Given the description of an element on the screen output the (x, y) to click on. 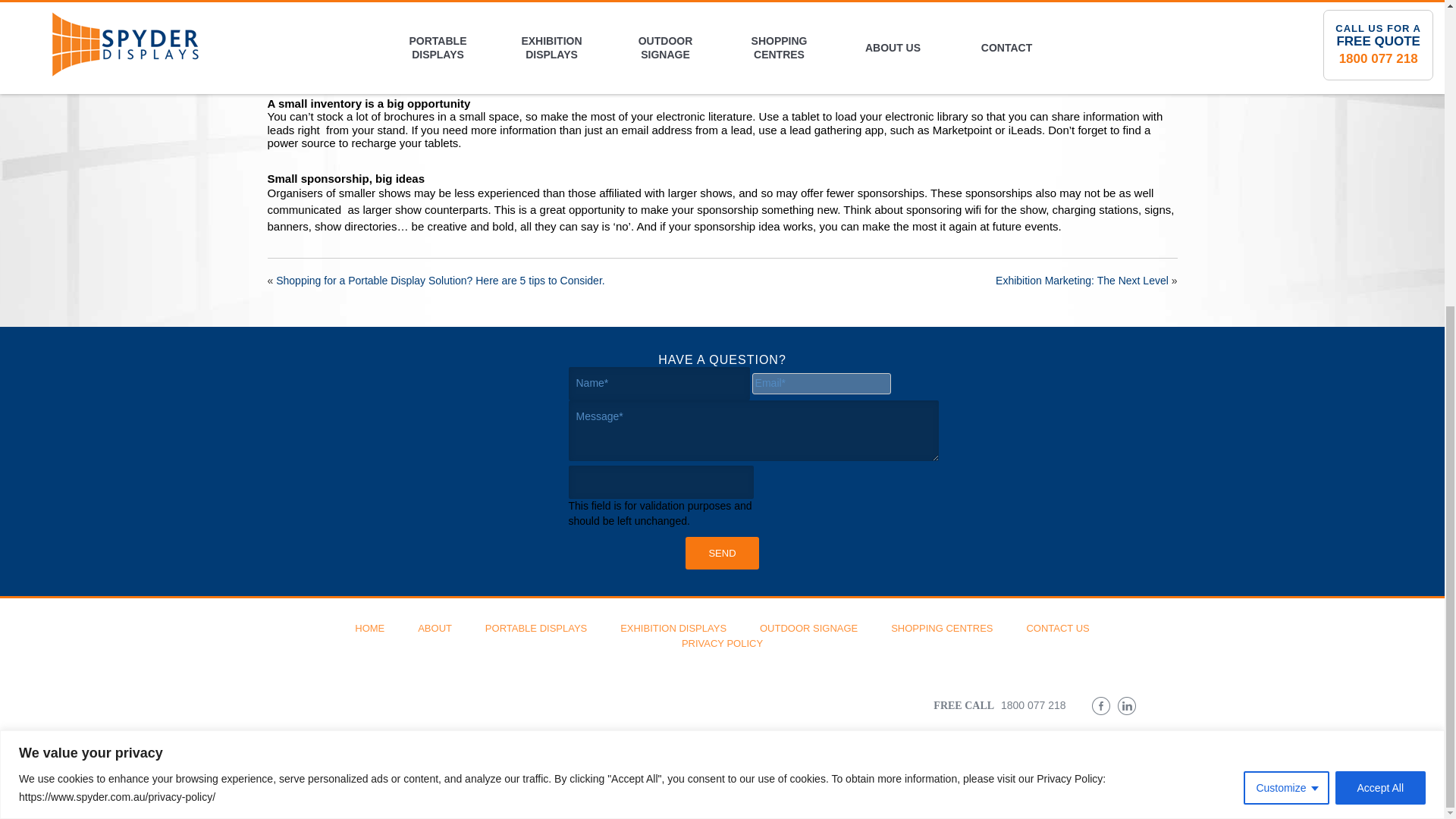
Accept All (1380, 304)
Customize (1285, 304)
Send (721, 553)
